Given the description of an element on the screen output the (x, y) to click on. 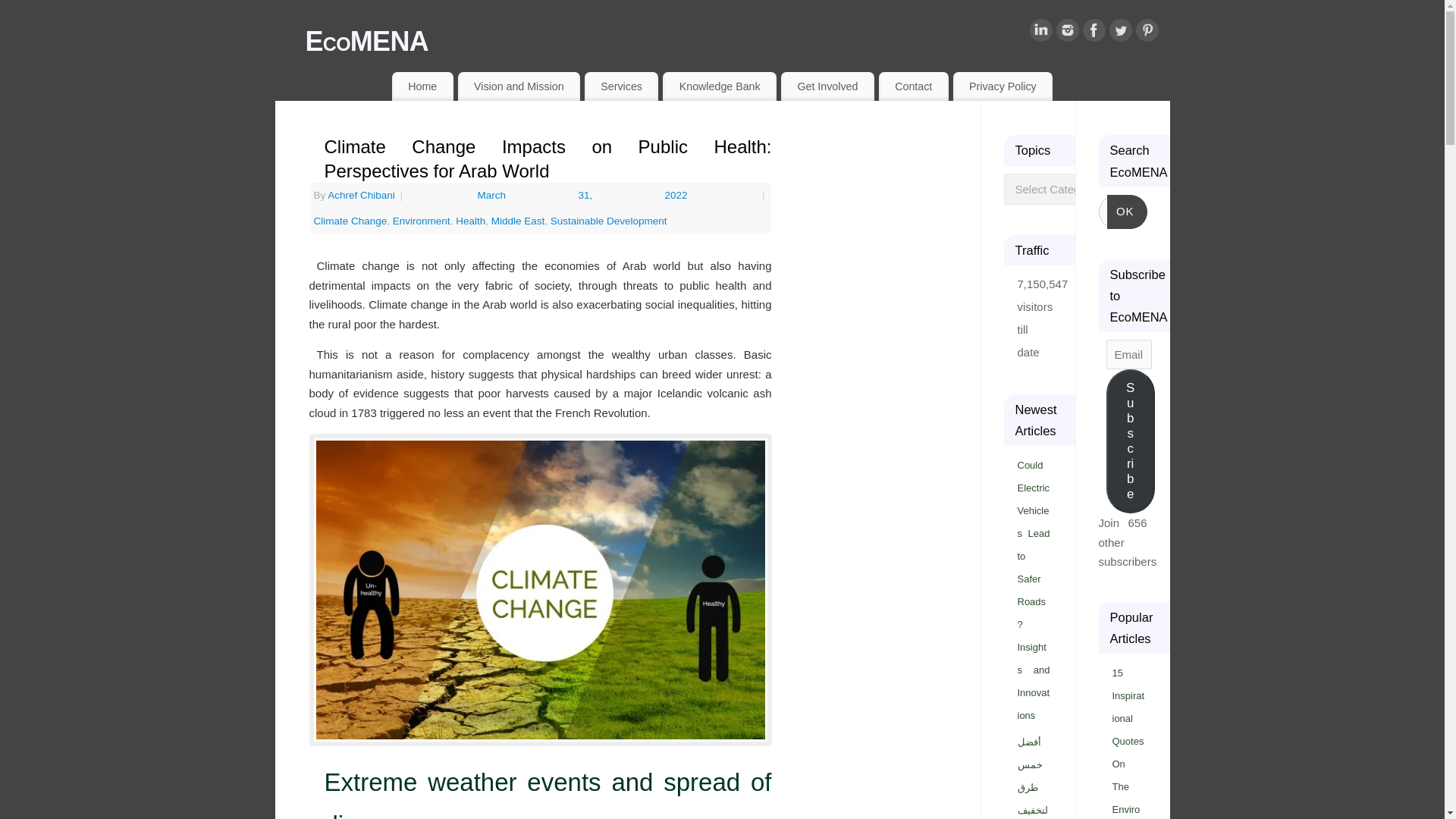
Health (469, 220)
EcoMENA (736, 41)
Privacy Policy (1002, 86)
March 31, 2022 (618, 194)
Contact (914, 86)
Services (621, 86)
2:32 am (618, 194)
Home (421, 86)
Environment (421, 220)
Knowledge Bank (719, 86)
Climate Change (350, 220)
View all posts by Achref Chibani (360, 194)
Achref Chibani (360, 194)
EcoMENA (736, 41)
Get Involved (827, 86)
